Given the description of an element on the screen output the (x, y) to click on. 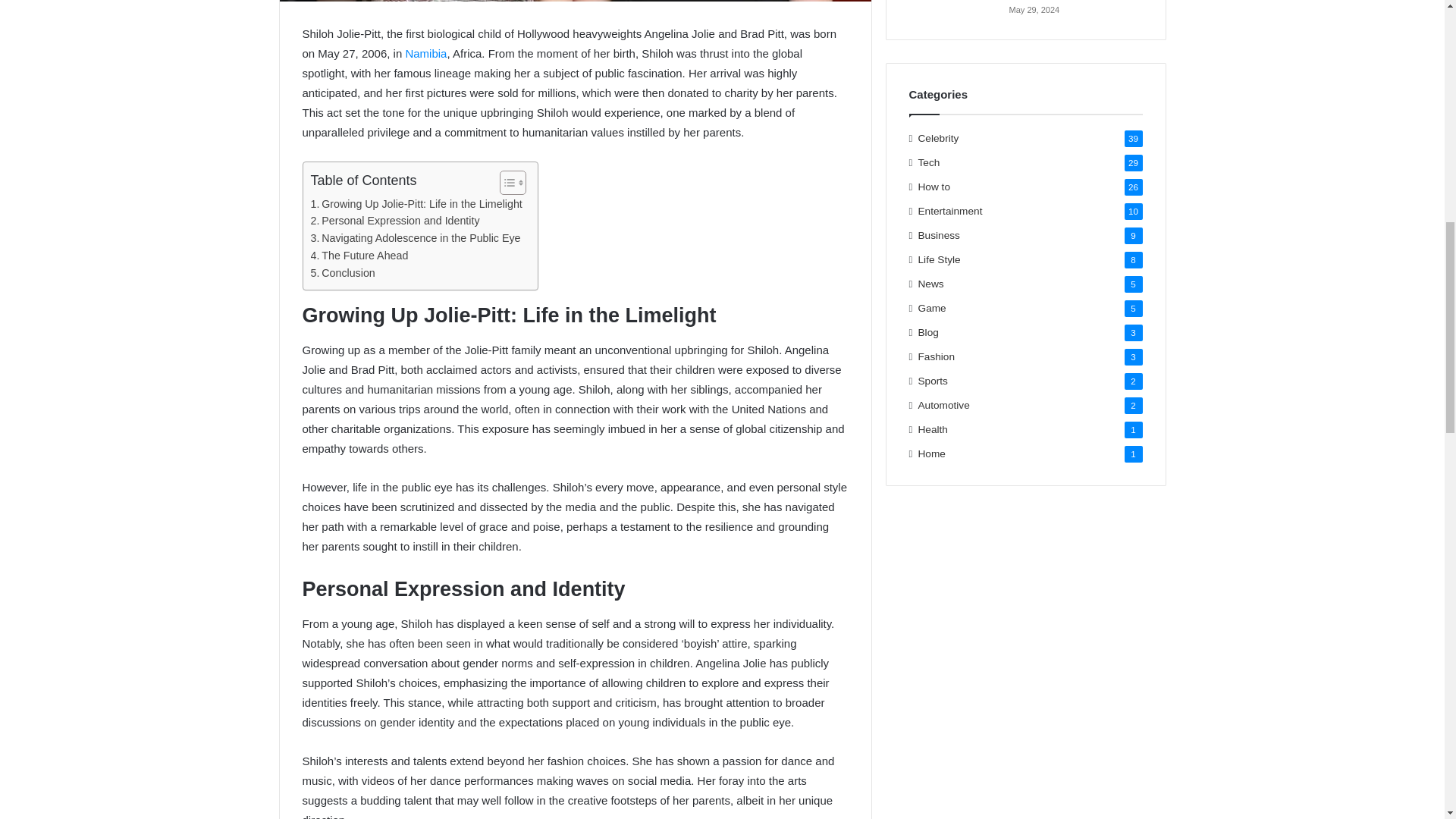
Conclusion (343, 272)
Personal Expression and Identity (395, 221)
The Future Ahead (360, 255)
Navigating Adolescence in the Public Eye (416, 238)
Navigating Adolescence in the Public Eye (416, 238)
Personal Expression and Identity (395, 221)
The Future Ahead (360, 255)
Growing Up Jolie-Pitt: Life in the Limelight (416, 203)
Conclusion (343, 272)
Growing Up Jolie-Pitt: Life in the Limelight (416, 203)
Namibia (425, 52)
